Given the description of an element on the screen output the (x, y) to click on. 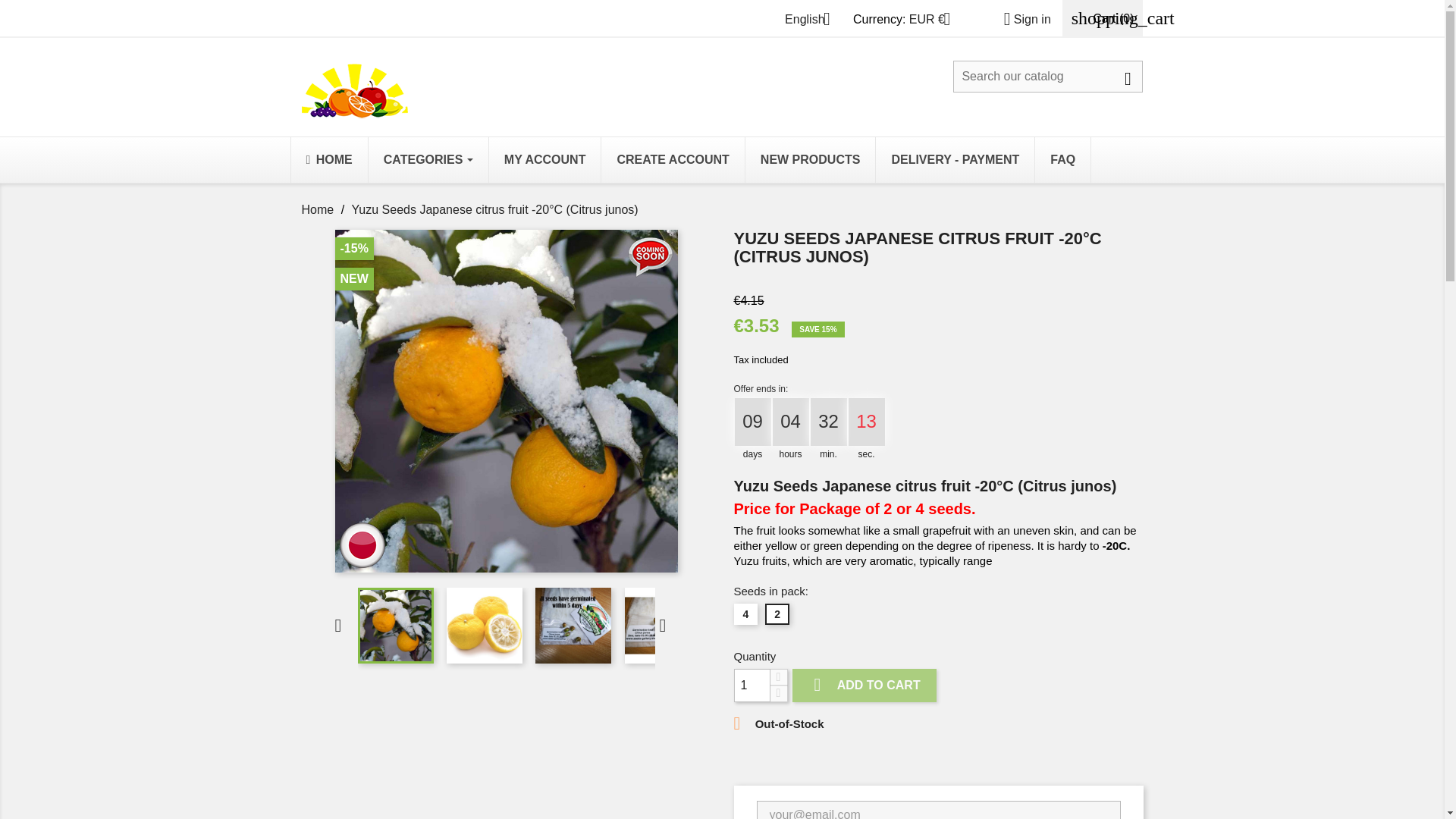
1 (751, 685)
